Given the description of an element on the screen output the (x, y) to click on. 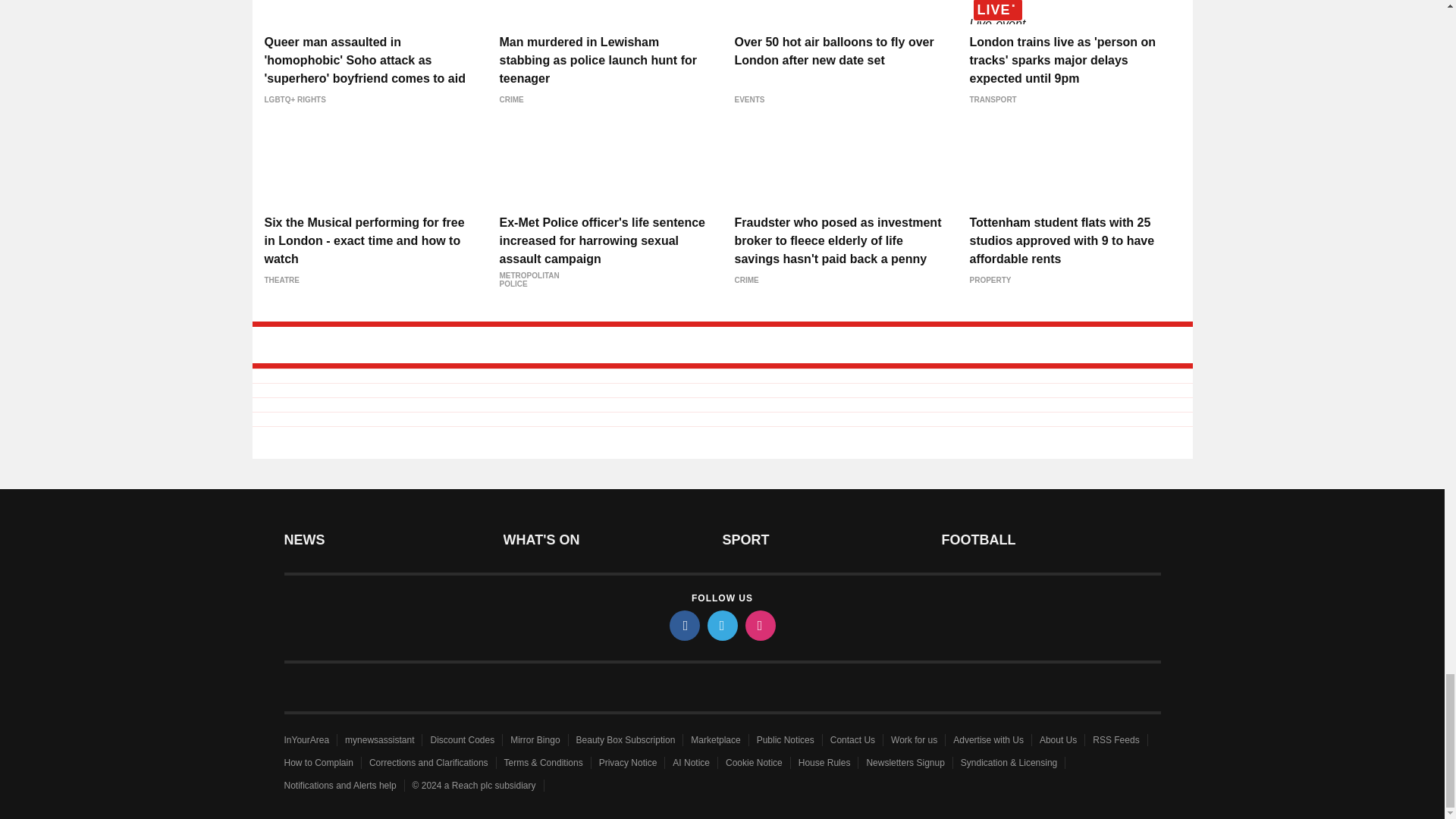
twitter (721, 625)
facebook (683, 625)
instagram (759, 625)
